Given the description of an element on the screen output the (x, y) to click on. 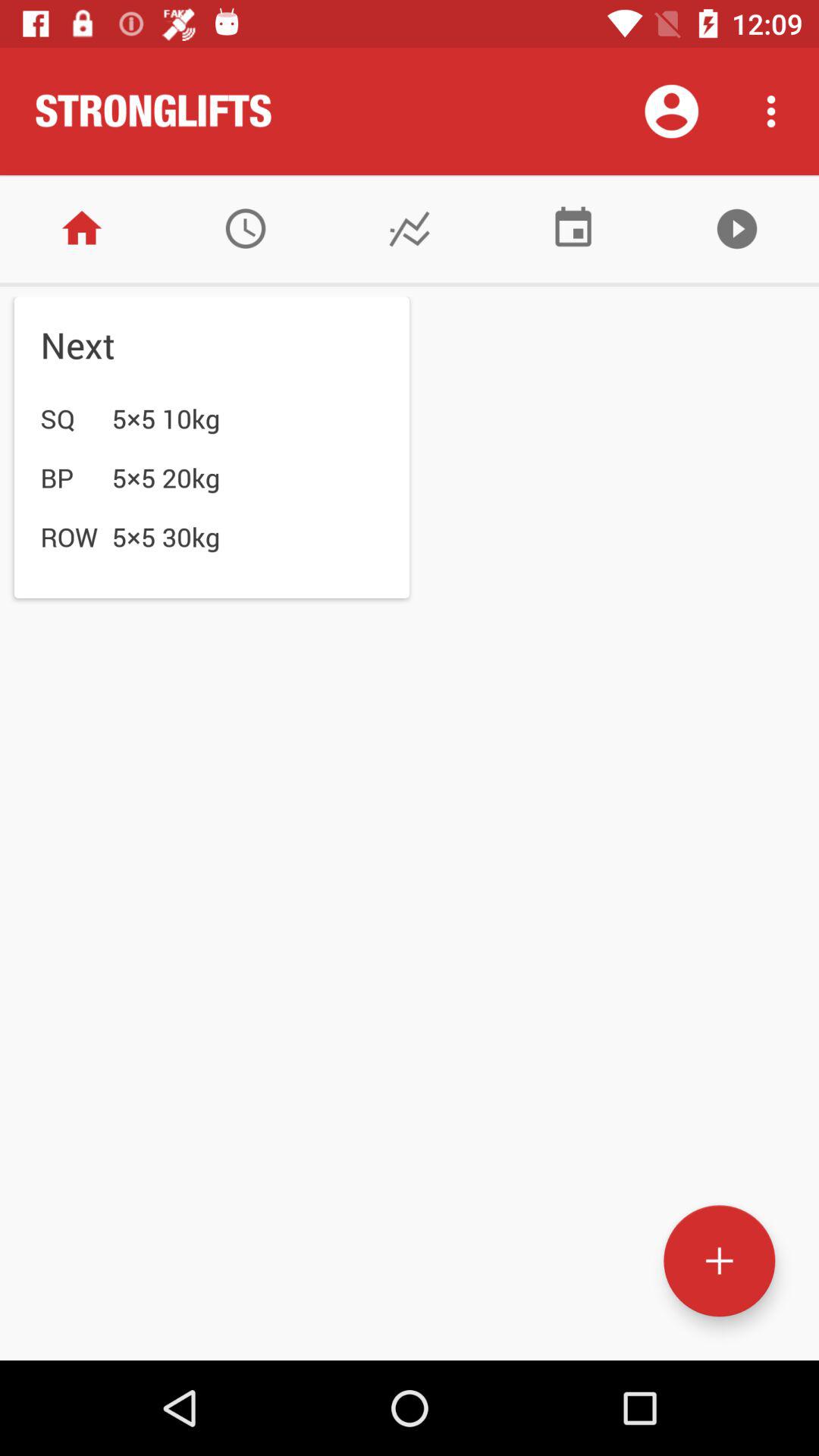
open the icon at the bottom right corner (719, 1260)
